Given the description of an element on the screen output the (x, y) to click on. 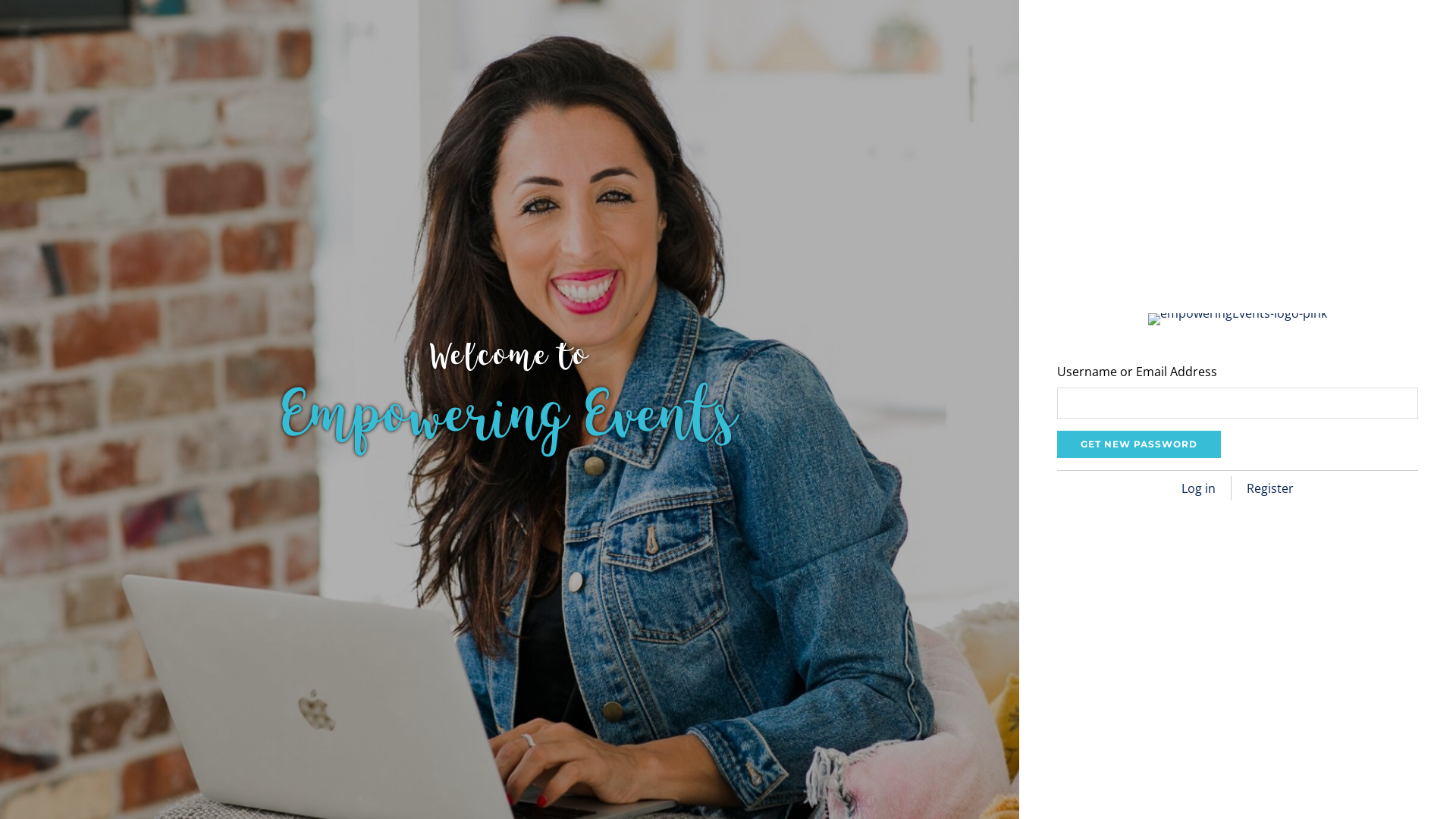
GET NEW PASSWORD Element type: text (1138, 444)
empoweringEvents-logo-pink Element type: hover (1237, 319)
Register Element type: text (1269, 488)
Log in Element type: text (1198, 488)
